Given the description of an element on the screen output the (x, y) to click on. 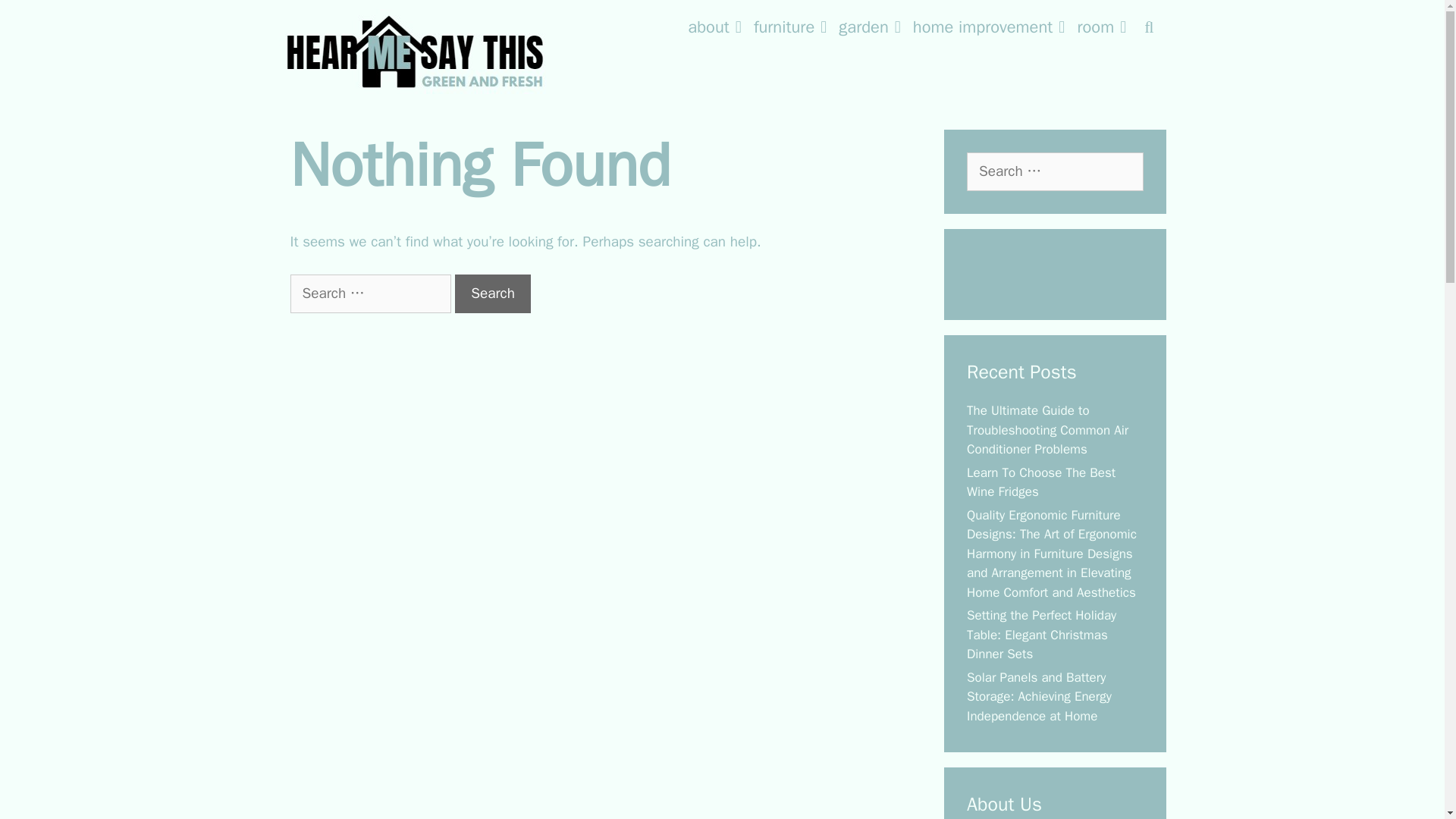
Search for: (1054, 171)
furniture (790, 27)
Search for: (369, 293)
Search (492, 293)
Search (1149, 27)
Hear Me Say This (415, 50)
home improvement (989, 27)
Search (241, 18)
about (714, 27)
Hear Me Say This (415, 51)
garden (869, 27)
Search (492, 293)
